Given the description of an element on the screen output the (x, y) to click on. 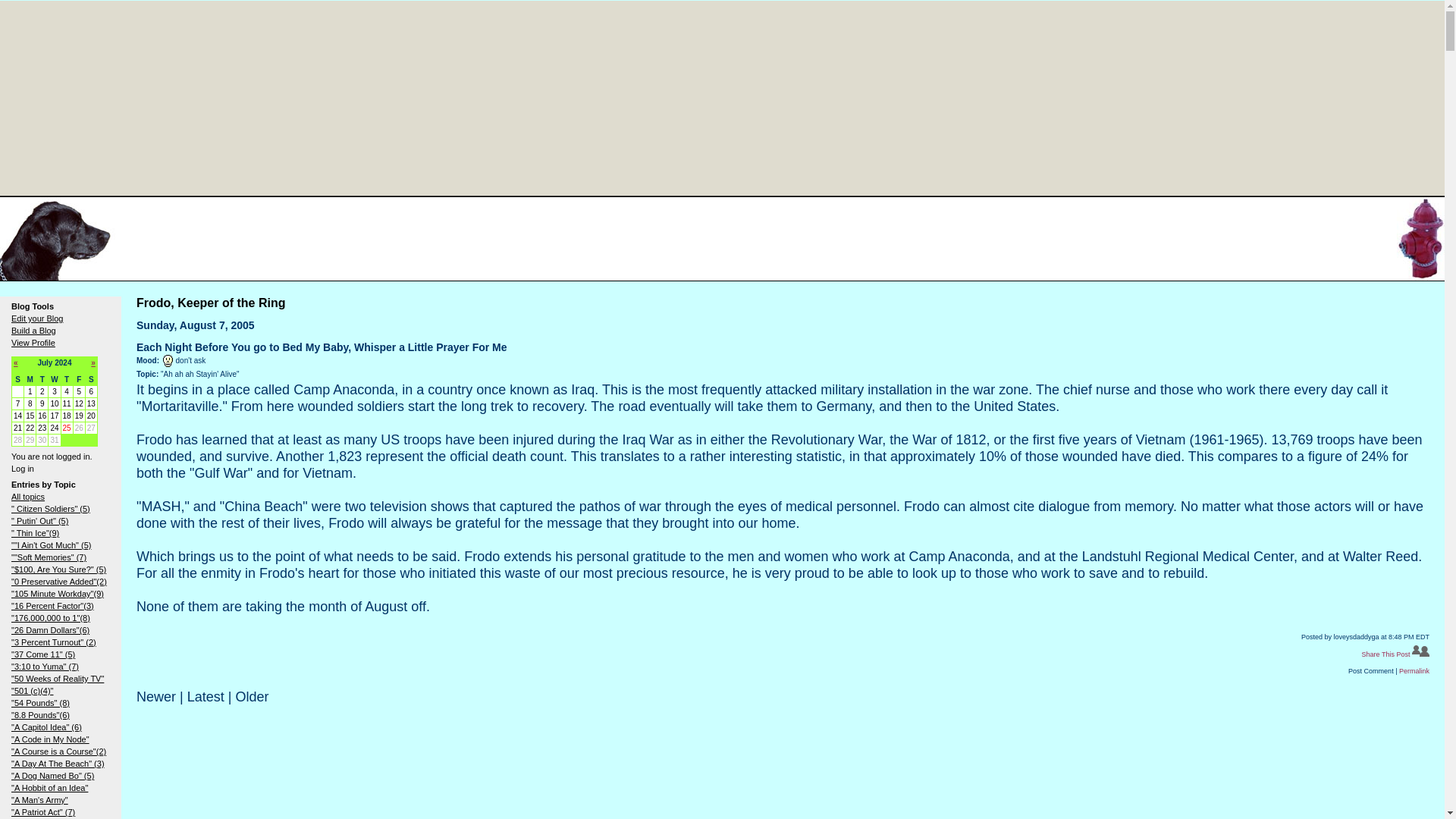
Log in (22, 468)
Build a Blog (33, 329)
"A Man's Army" (39, 799)
"A Code in My Node" (49, 738)
Edit your Blog (36, 317)
All topics (28, 496)
View Profile (33, 342)
"A Hobbit of an Idea" (49, 787)
"50 Weeks of Reality TV" (57, 678)
